Given the description of an element on the screen output the (x, y) to click on. 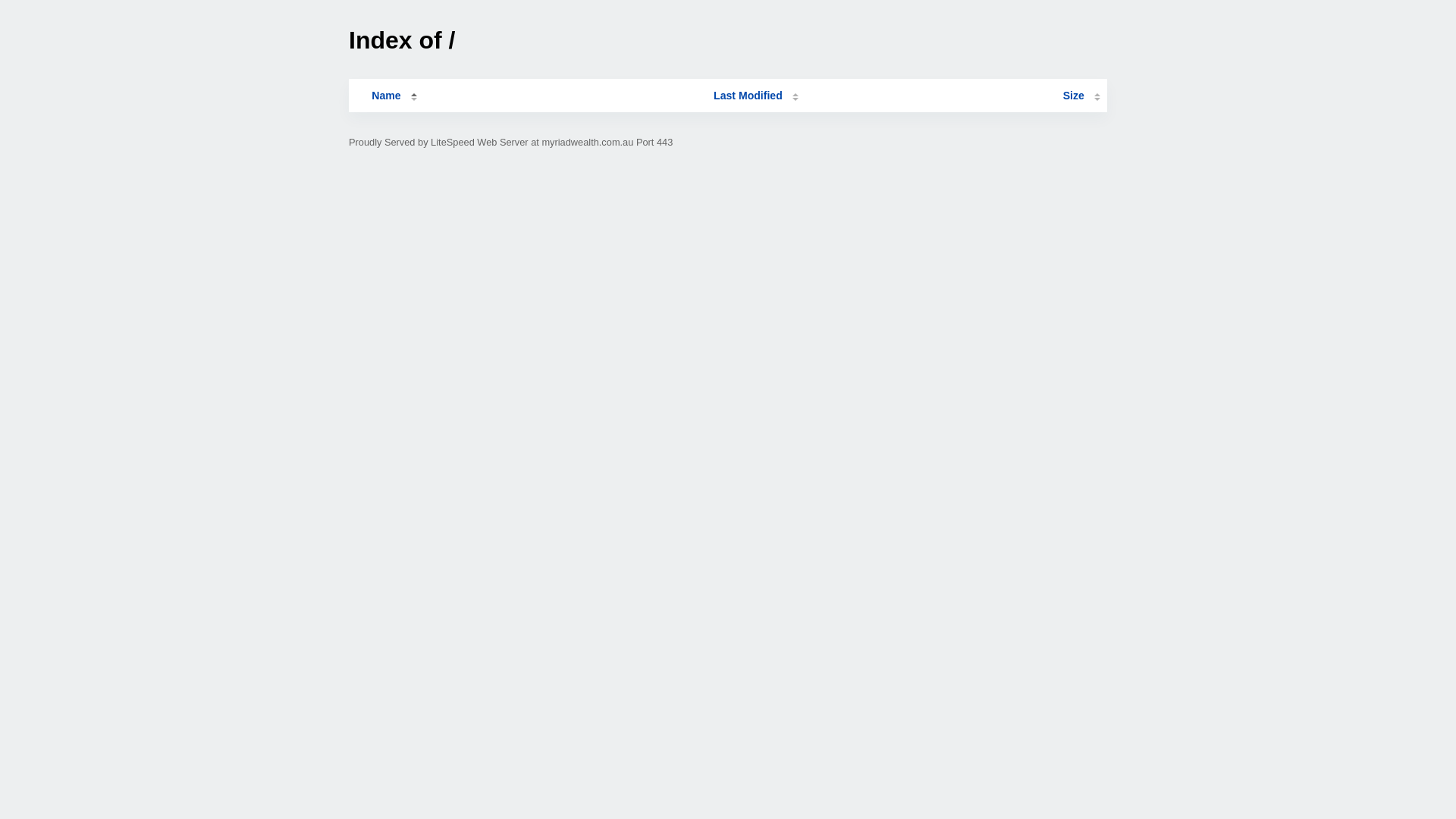
Name Element type: text (385, 95)
Last Modified Element type: text (755, 95)
Size Element type: text (1081, 95)
